Given the description of an element on the screen output the (x, y) to click on. 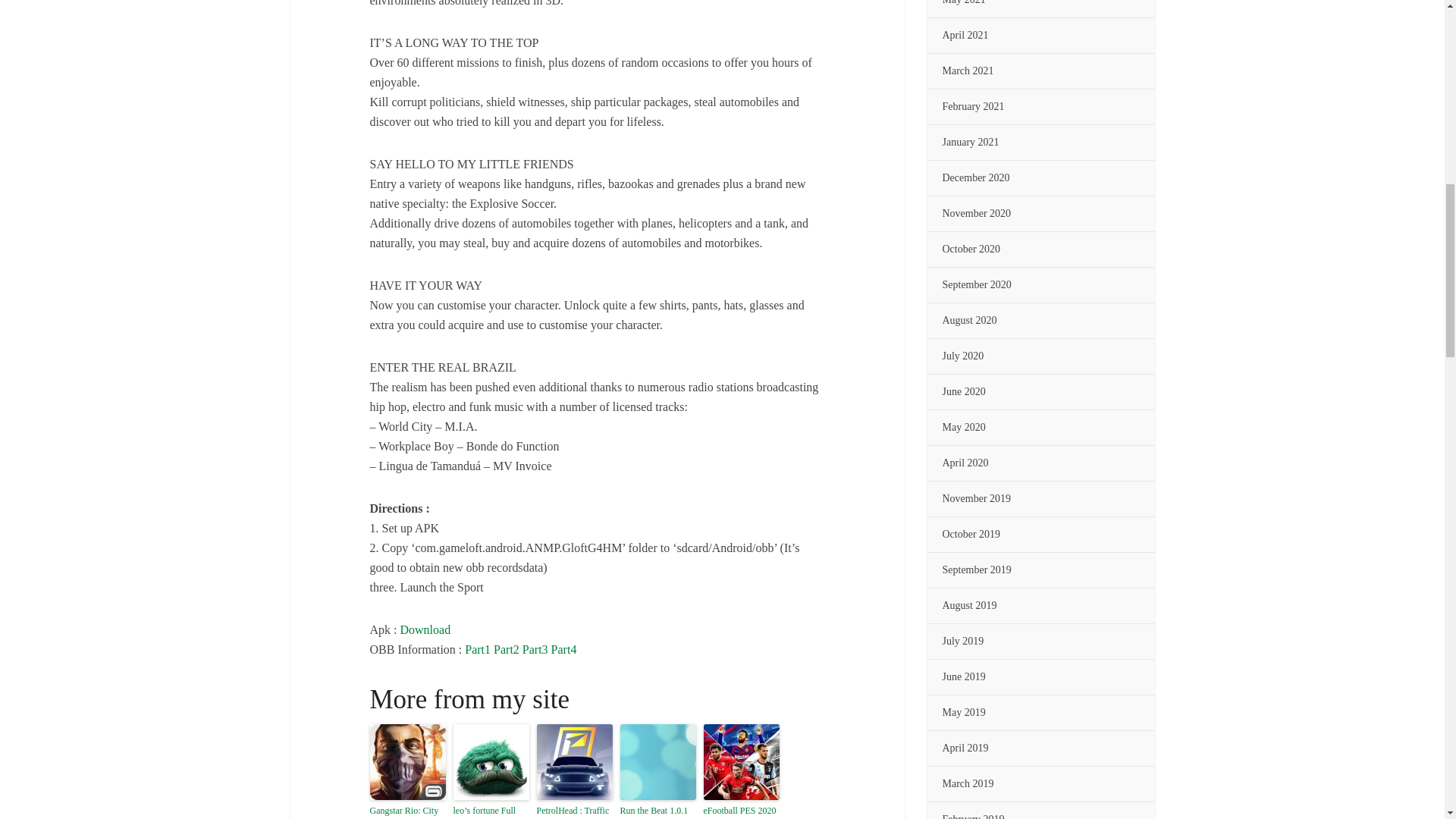
Part1 (477, 649)
Download (425, 629)
Part4 (563, 649)
Part3 (535, 649)
Part2 (506, 649)
